Given the description of an element on the screen output the (x, y) to click on. 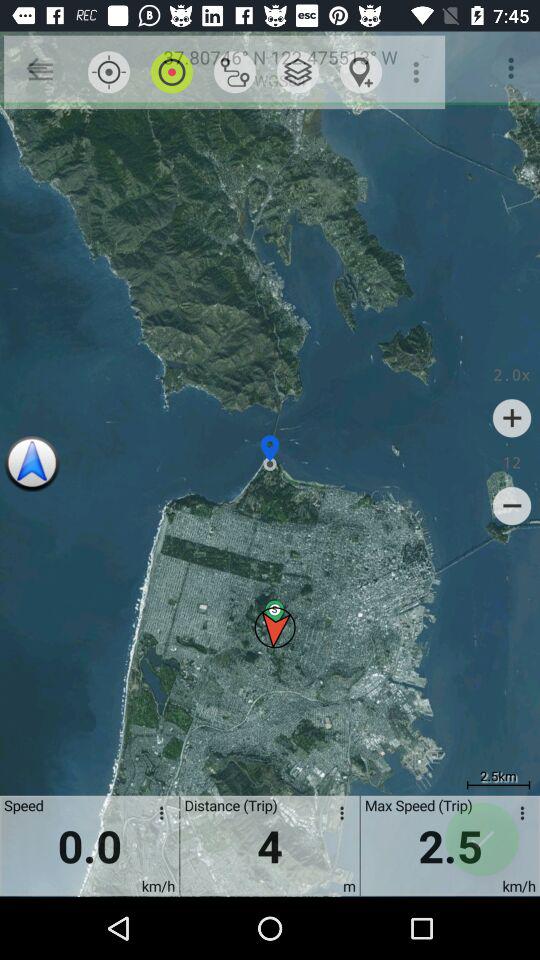
tap icon above 12 icon (512, 418)
